Given the description of an element on the screen output the (x, y) to click on. 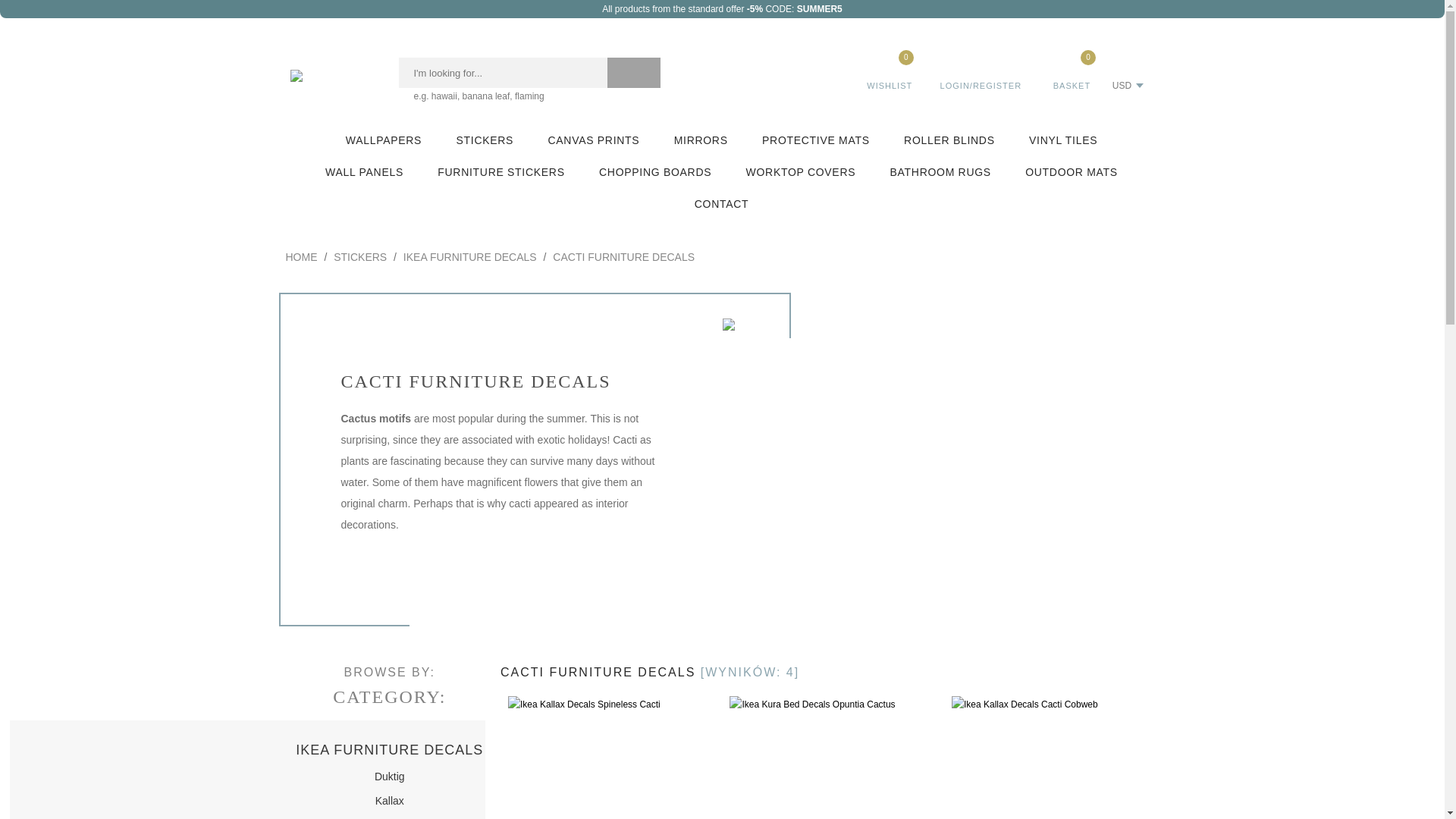
flaming (529, 95)
your account (980, 69)
Wallpapers (383, 140)
your cart (1070, 69)
banana leaf (487, 95)
hawaii (443, 95)
go to main page (328, 75)
